Given the description of an element on the screen output the (x, y) to click on. 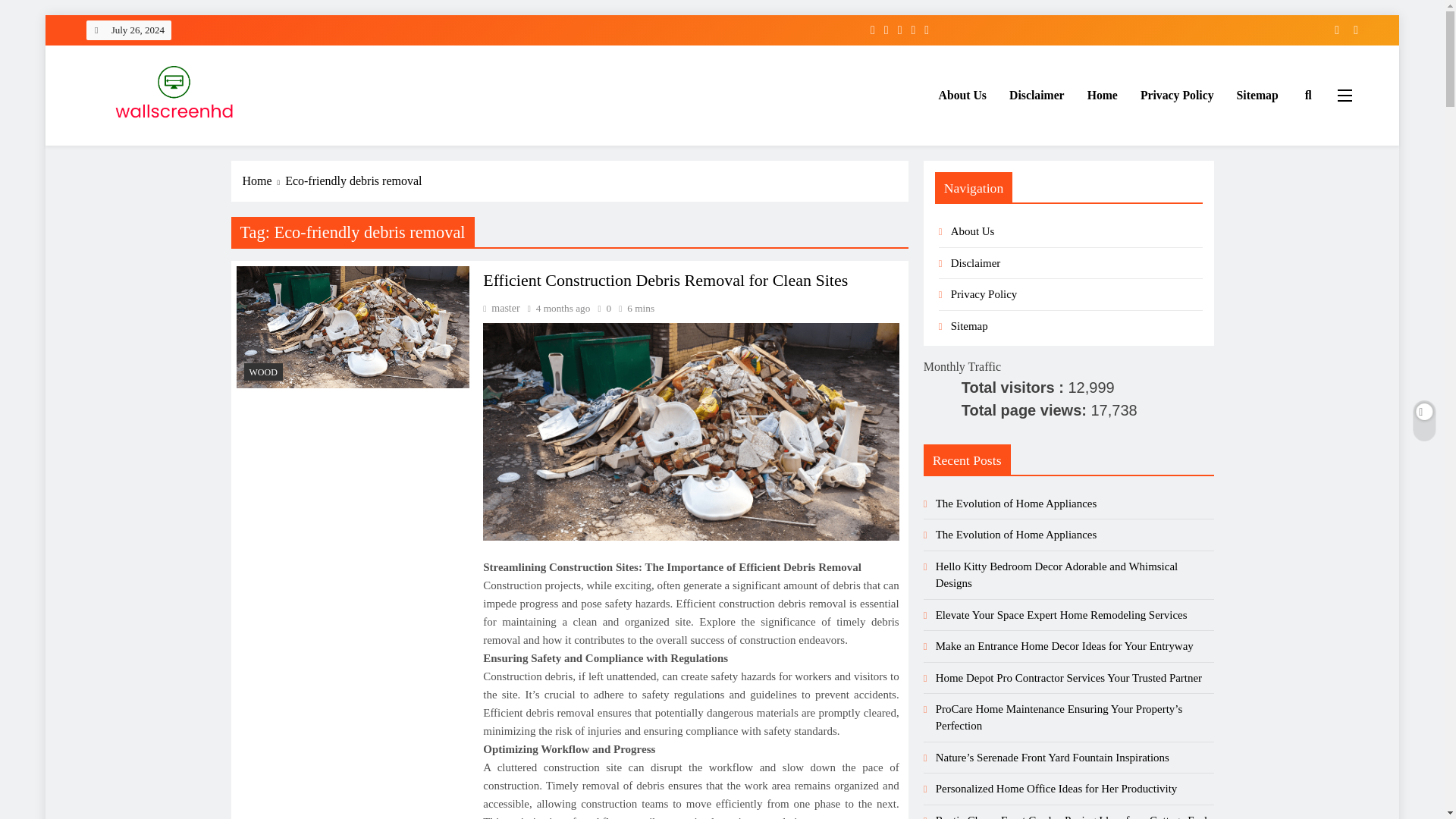
Efficient Construction Debris Removal for Clean Sites (352, 327)
Sitemap (1257, 95)
Personalized Home Office Ideas for Her Productivity (1056, 788)
Disclaimer (975, 263)
About Us (962, 95)
Privacy Policy (1177, 95)
The Evolution of Home Appliances (1016, 534)
Privacy Policy (983, 294)
Efficient Construction Debris Removal for Clean Sites (690, 431)
Home Depot Pro Contractor Services Your Trusted Partner (1069, 677)
Efficient Construction Debris Removal for Clean Sites (665, 280)
About Us (972, 231)
Rustic Charm Front Garden Paving Ideas for a Cottage Feel (1071, 816)
Make an Entrance Home Decor Ideas for Your Entryway (1064, 645)
